Given the description of an element on the screen output the (x, y) to click on. 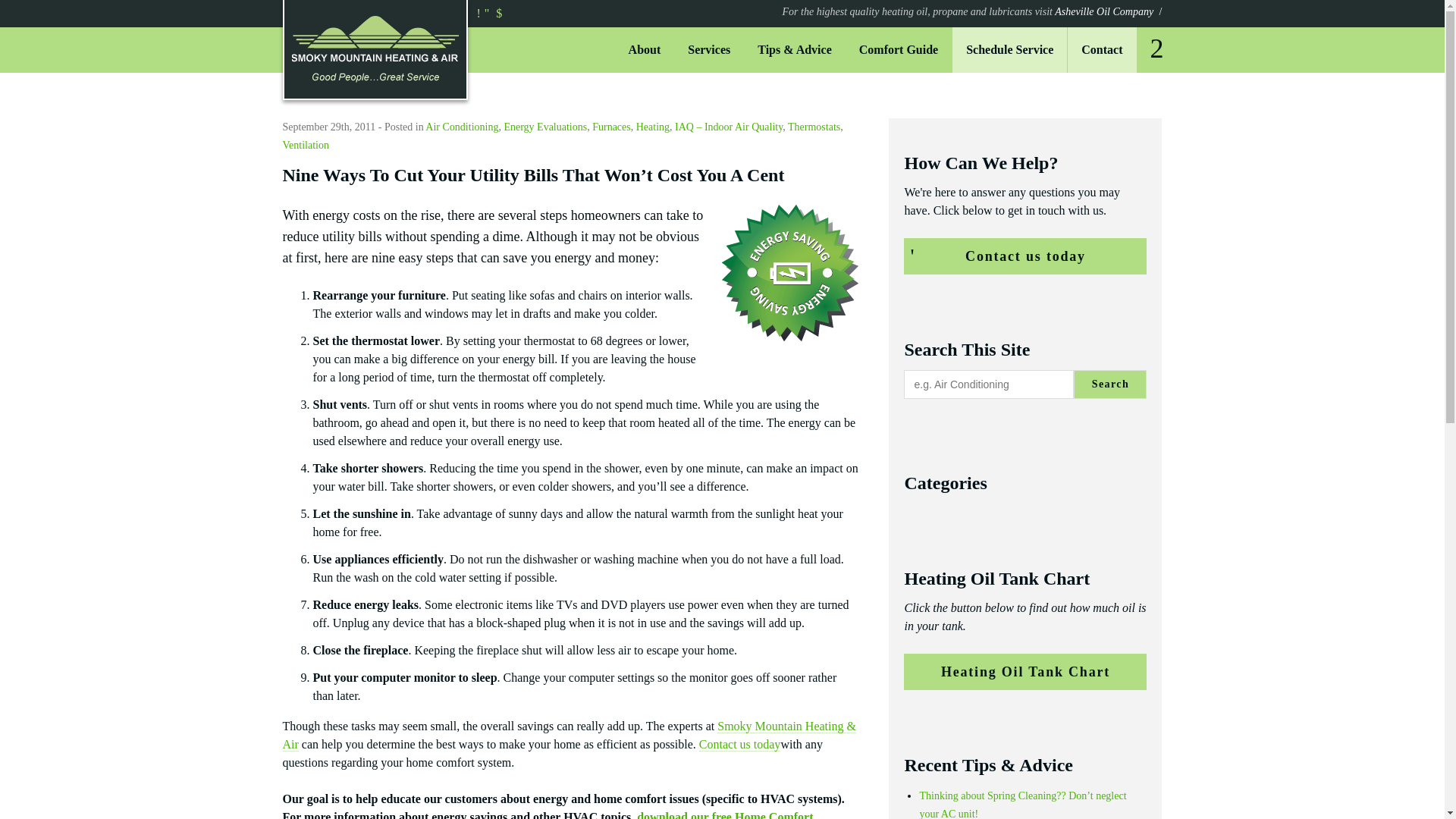
Contact (1101, 49)
Heating (652, 126)
Contact us today (739, 744)
About (644, 49)
Furnaces (611, 126)
Schedule Service (1009, 49)
Search (1110, 384)
Ventilation (305, 144)
Comfort Guide (898, 49)
Schedule Service (1009, 49)
Energy Evaluations (544, 126)
Thermostats (813, 126)
Comfort Guide (898, 49)
Search (1155, 48)
Visit Asheville Oil Company (972, 11)
